Given the description of an element on the screen output the (x, y) to click on. 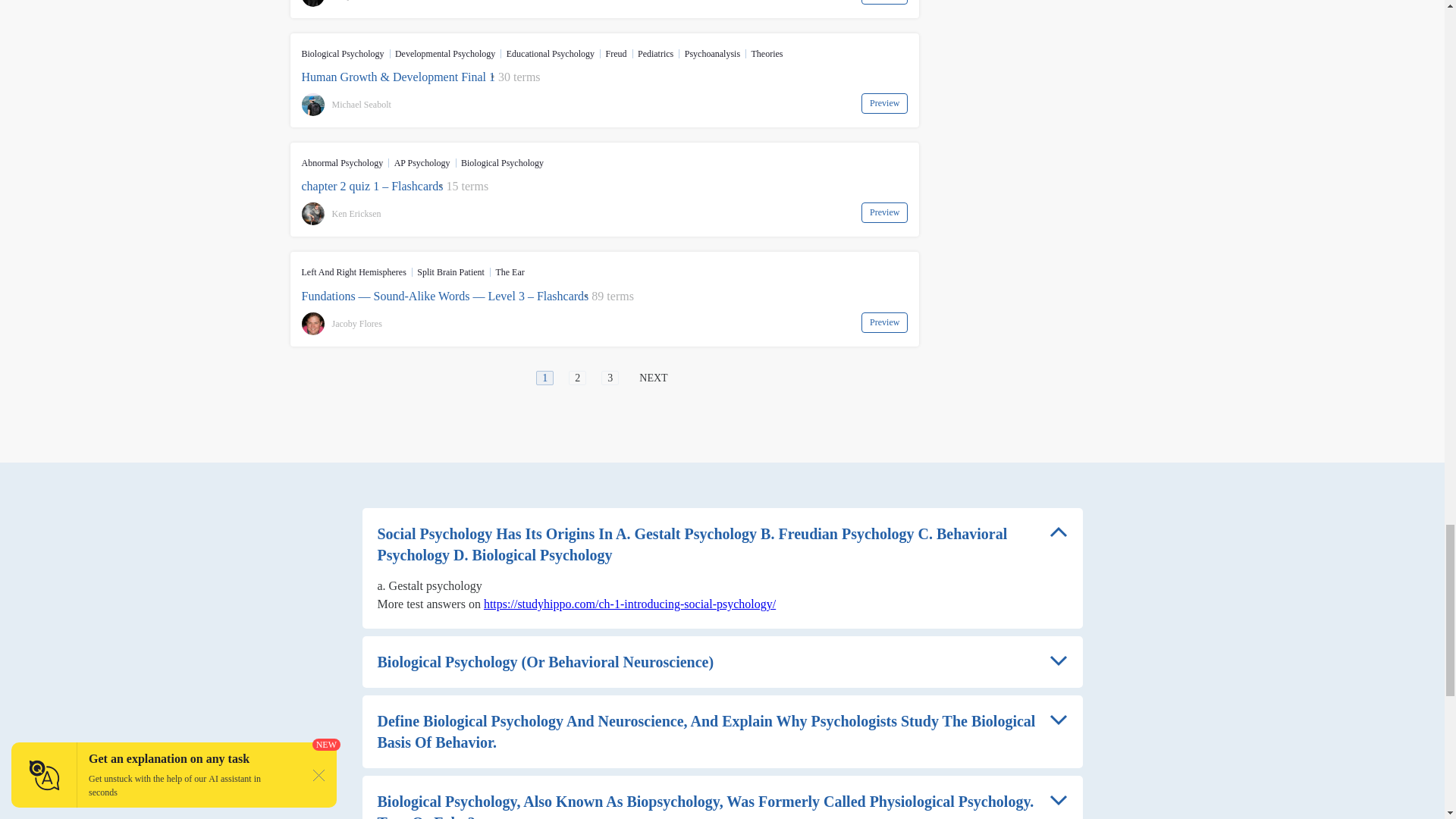
2 (577, 377)
